Given the description of an element on the screen output the (x, y) to click on. 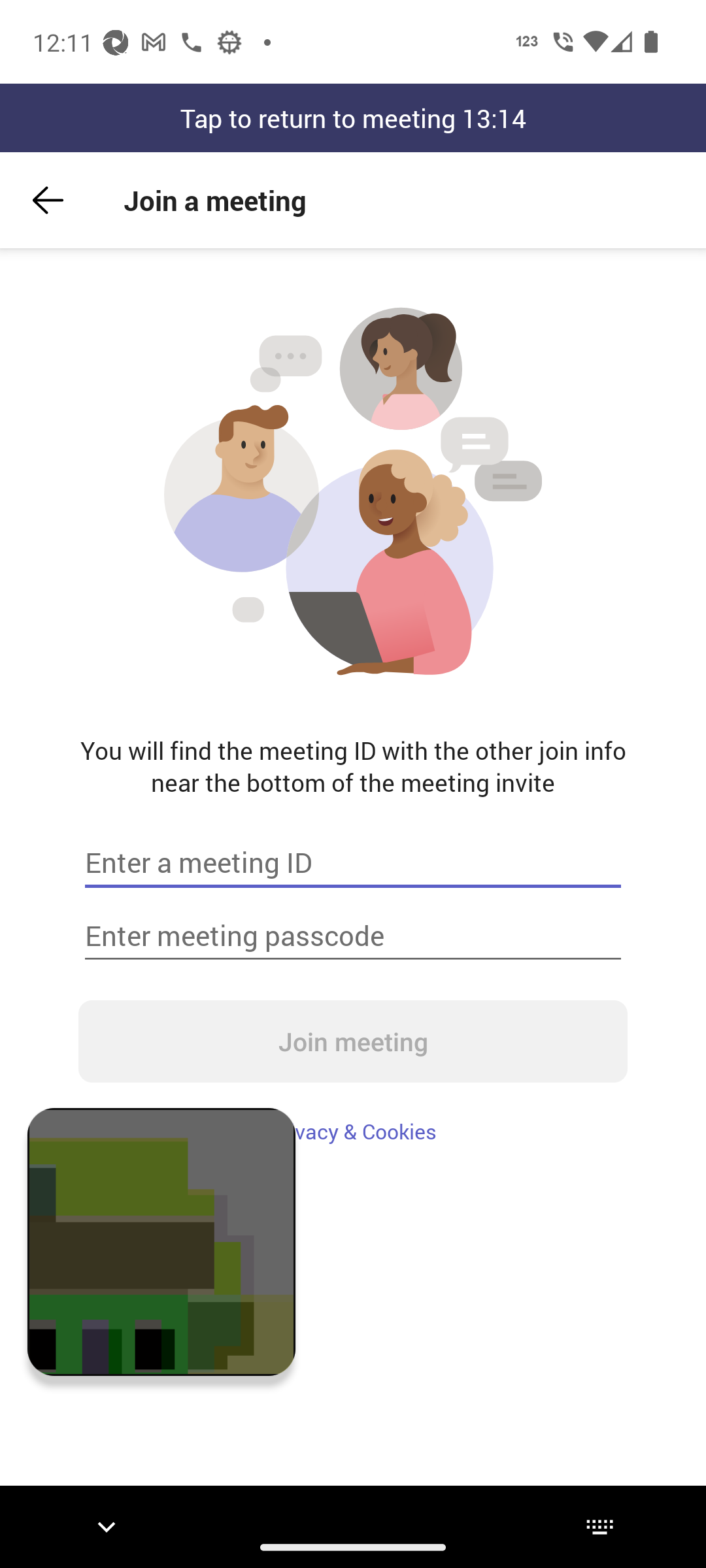
Tap to return to meeting 13:13 (353, 117)
Back (48, 199)
Enter a meeting ID (352, 863)
Enter meeting passcode (352, 936)
Join meeting (352, 1040)
